Given the description of an element on the screen output the (x, y) to click on. 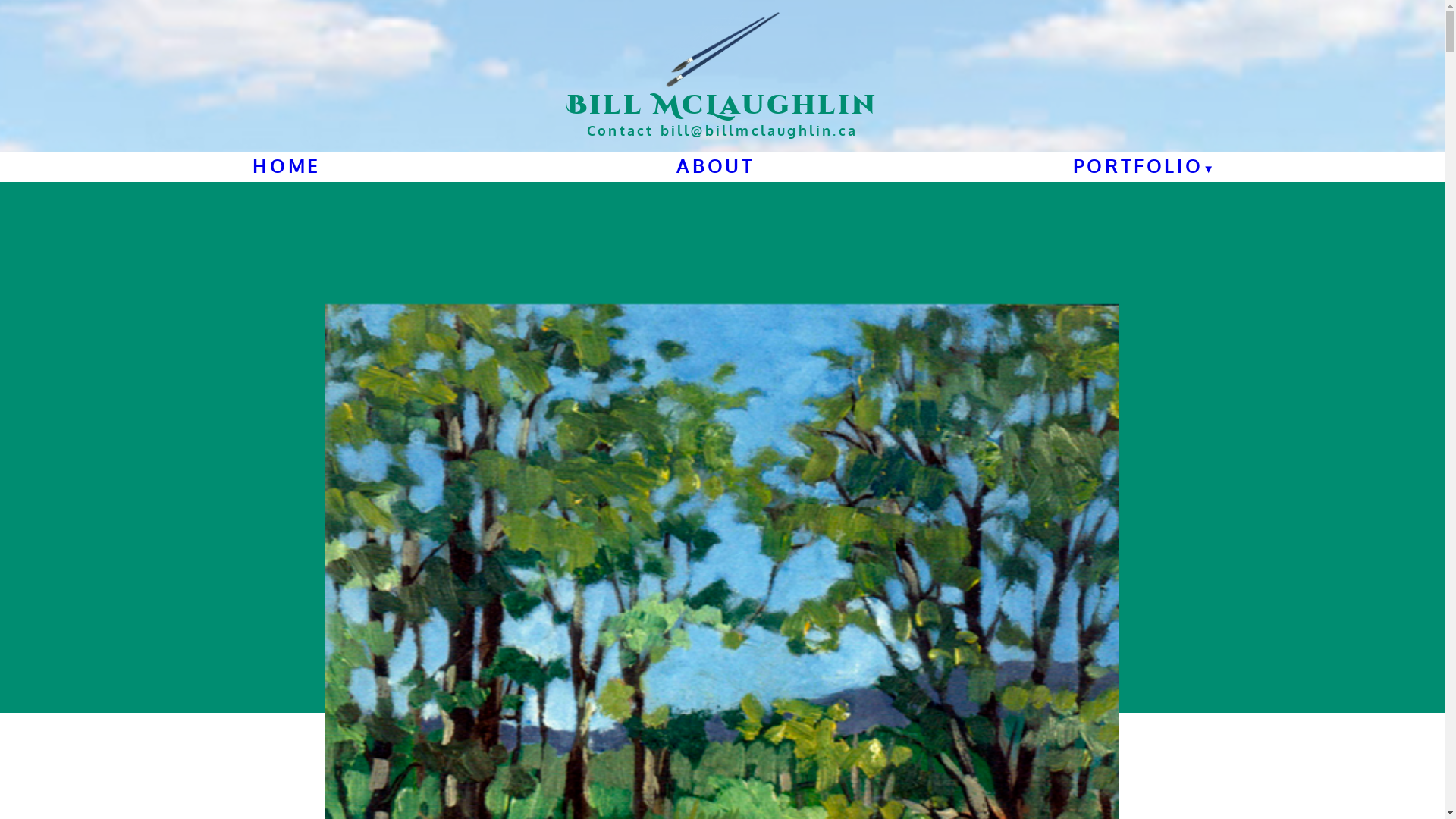
bill@billmclaughlin.ca Element type: text (758, 130)
HOME Element type: text (286, 165)
ABOUT Element type: text (715, 165)
